Given the description of an element on the screen output the (x, y) to click on. 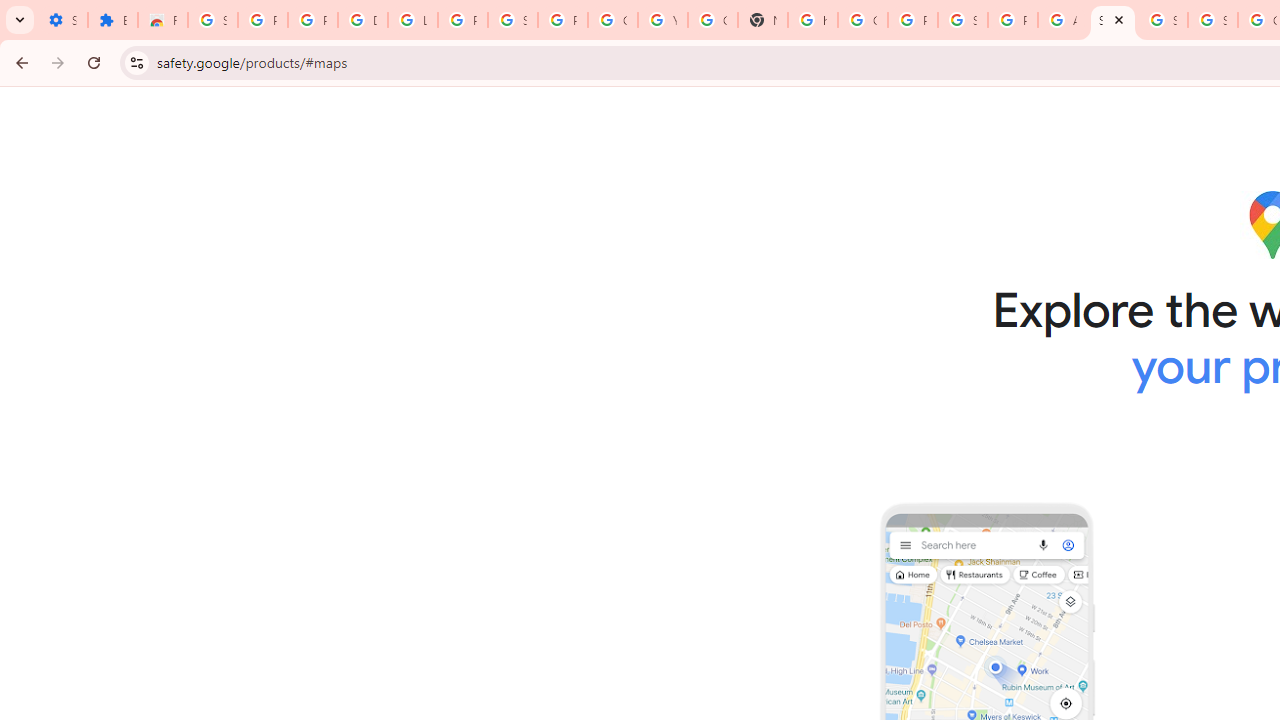
New Tab (763, 20)
Sign in - Google Accounts (512, 20)
Delete photos & videos - Computer - Google Photos Help (362, 20)
Sign in - Google Accounts (1212, 20)
Reviews: Helix Fruit Jump Arcade Game (163, 20)
Learn how to find your photos - Google Photos Help (412, 20)
Sign in - Google Accounts (213, 20)
Safety in Our Products - Google Safety Center (1112, 20)
Sign in - Google Accounts (1162, 20)
